Given the description of an element on the screen output the (x, y) to click on. 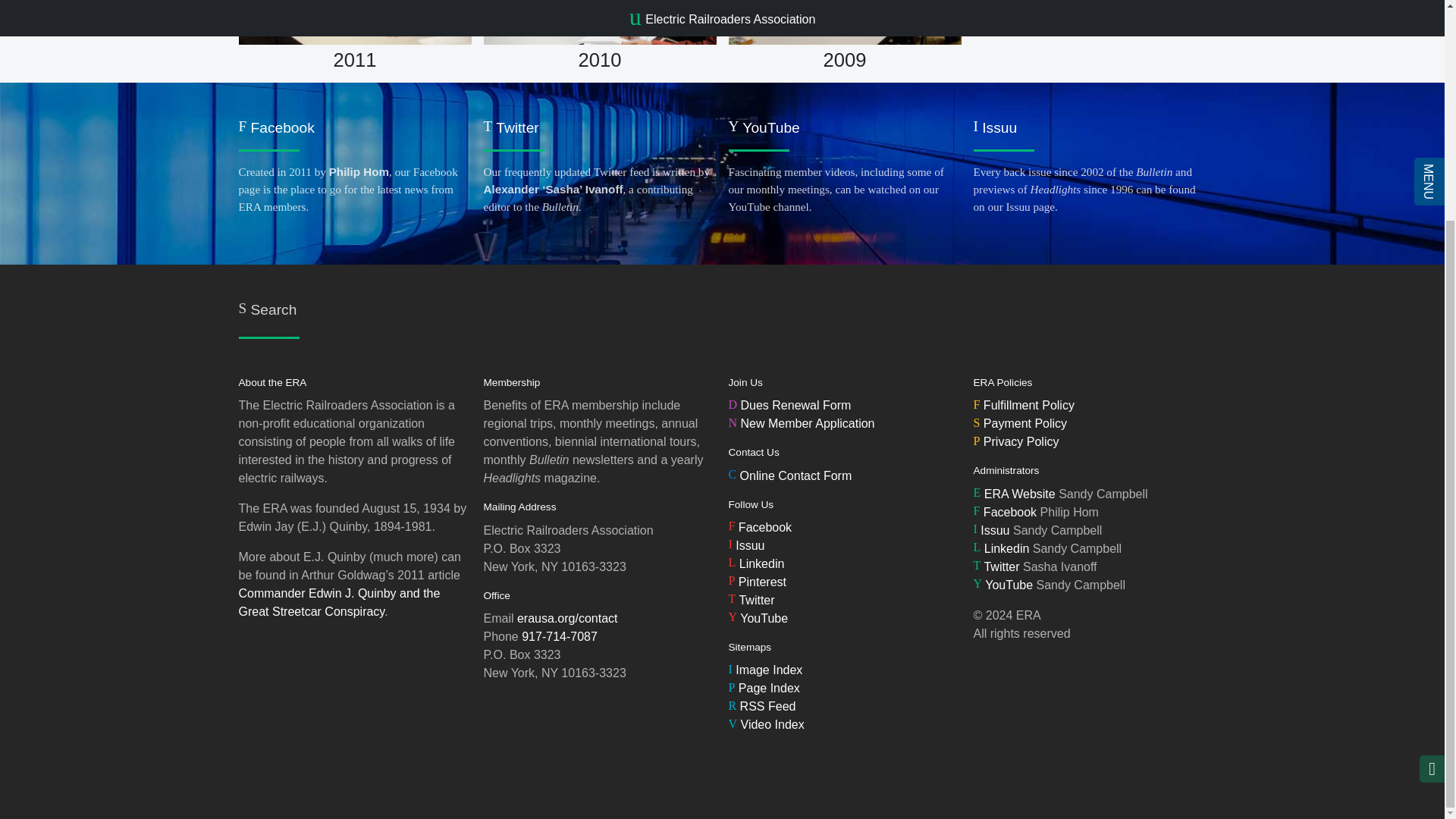
Pinterest (757, 581)
Facebook (760, 526)
Issuu (746, 545)
YouTube (757, 617)
Twitter (756, 563)
Twitter (751, 599)
